Given the description of an element on the screen output the (x, y) to click on. 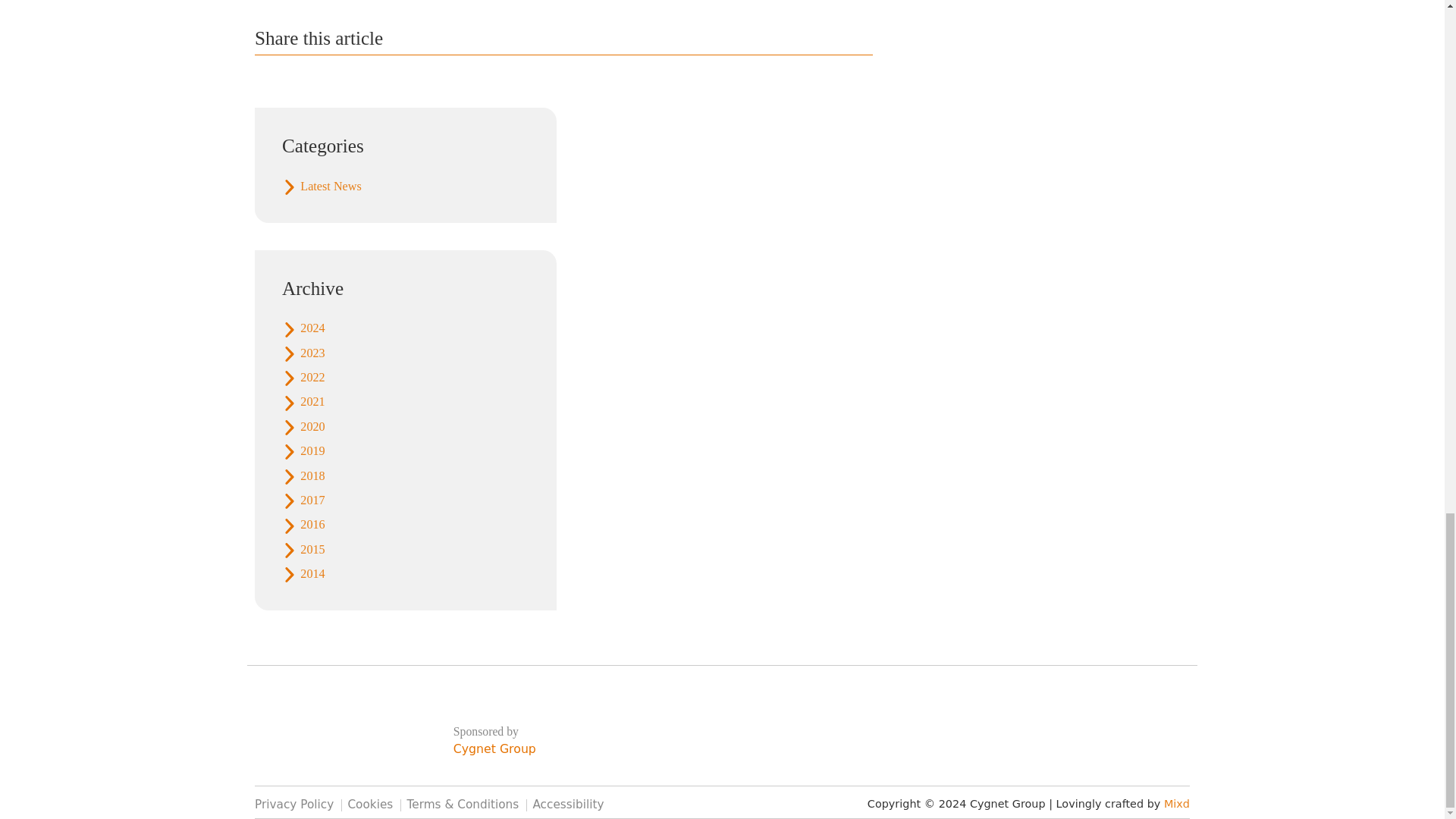
2021 (405, 402)
2022 (405, 377)
Share this Post via Email (361, 97)
2024 (405, 328)
2023 (405, 352)
2019 (405, 451)
2020 (405, 426)
Share this Post on Twitter (316, 97)
Latest News (405, 186)
Share this Post on Linked In (407, 97)
